Given the description of an element on the screen output the (x, y) to click on. 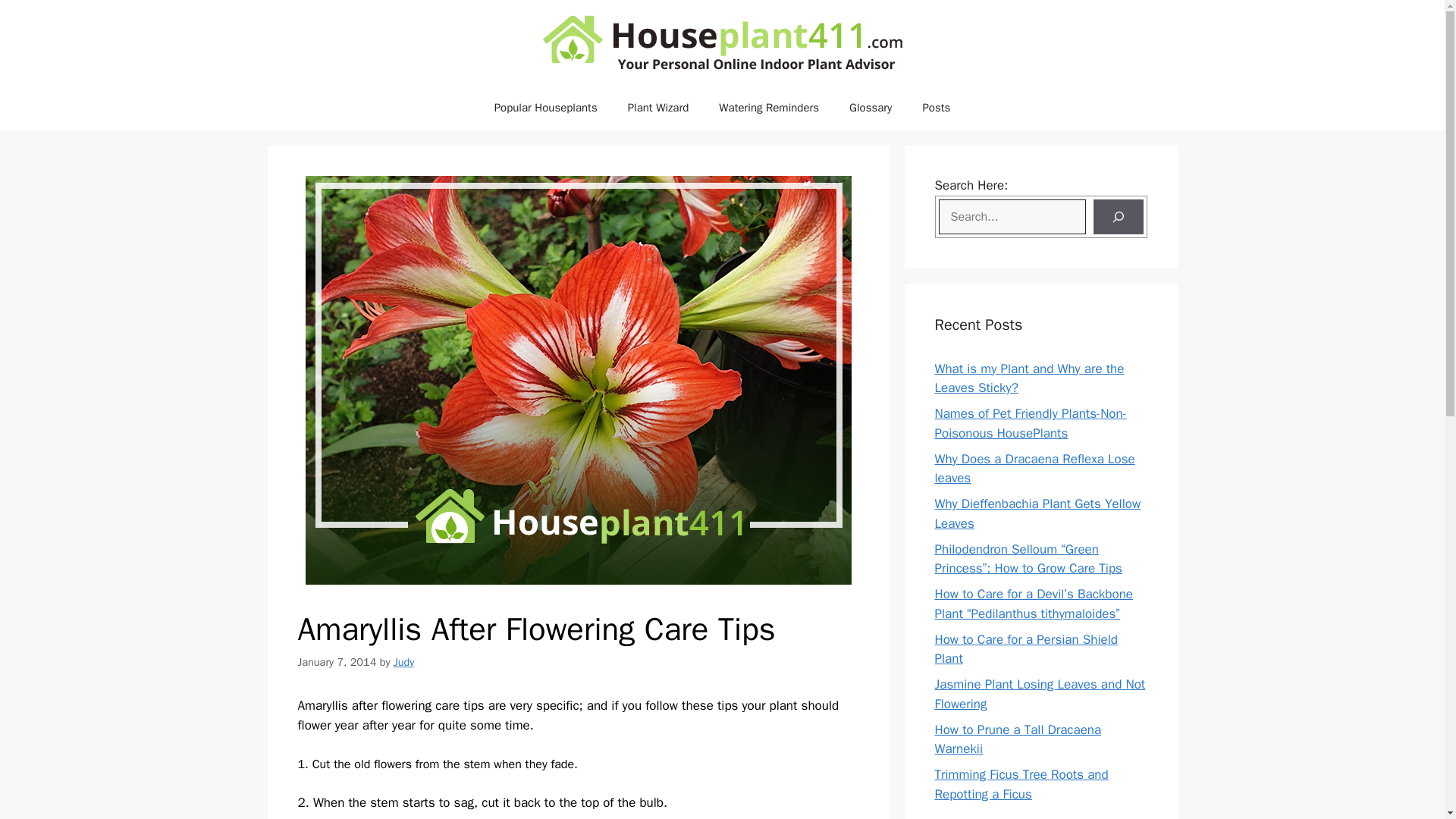
Jasmine Plant Losing Leaves and Not Flowering (1039, 693)
Plant Wizard (658, 107)
How to Prune a Tall Dracaena Warnekii (1017, 739)
How to Care for a Persian Shield Plant (1025, 648)
Why Dieffenbachia Plant Gets Yellow Leaves (1037, 513)
Glossary (870, 107)
Watering Reminders (768, 107)
Posts (936, 107)
Judy (403, 662)
Why Does a Dracaena Reflexa Lose leaves (1034, 468)
What is my Plant and Why are the Leaves Sticky? (1029, 378)
Names of Pet Friendly Plants-Non- Poisonous HousePlants (1029, 423)
Popular Houseplants (545, 107)
View all posts by Judy (403, 662)
Trimming Ficus Tree Roots and Repotting a Ficus (1021, 784)
